Given the description of an element on the screen output the (x, y) to click on. 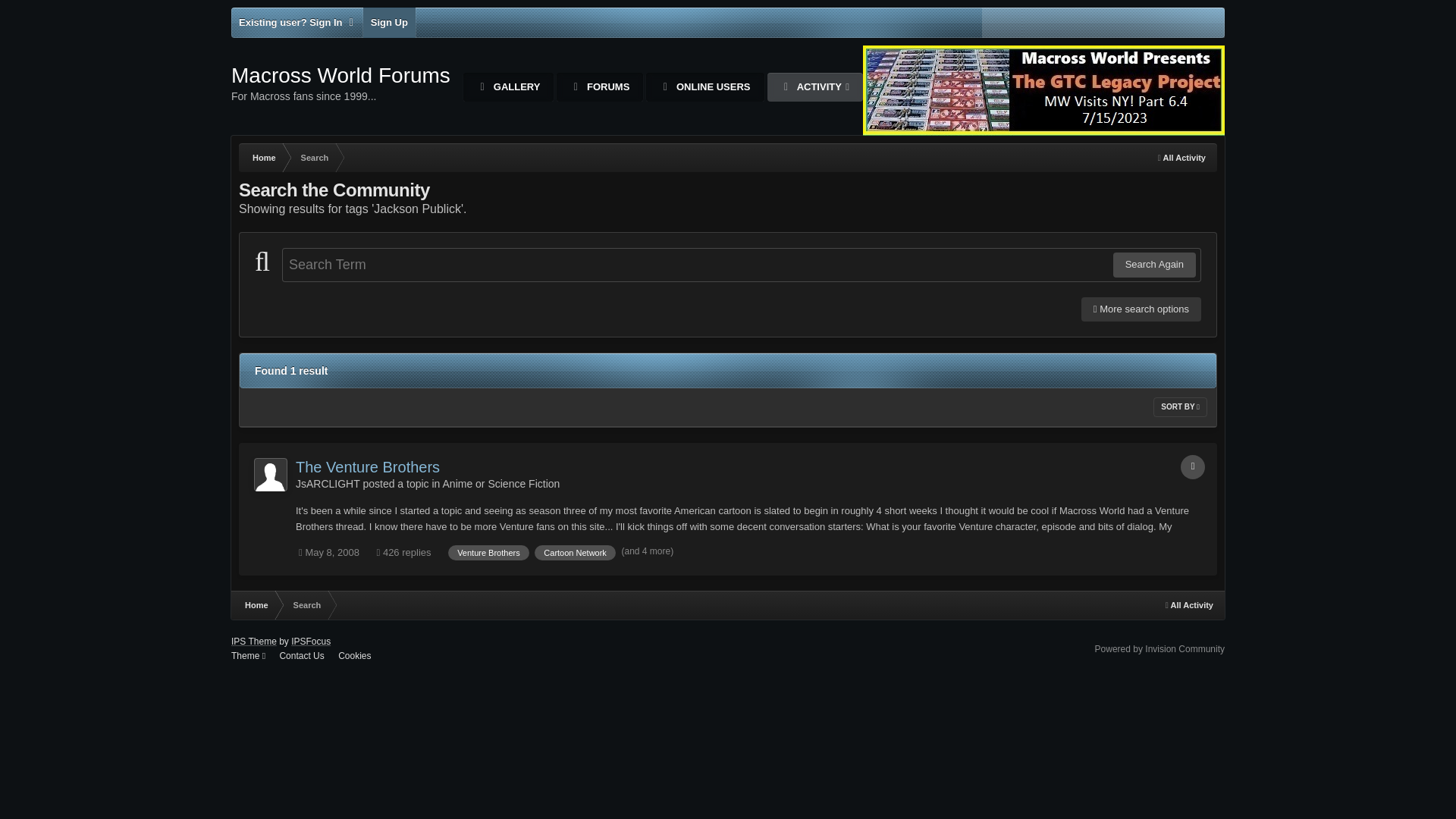
ONLINE USERS (704, 86)
Invision Community (1159, 648)
Topic (1192, 467)
Find other content tagged with 'Venture Brothers' (340, 82)
Existing user? Sign In   (488, 552)
Search Again (296, 22)
GALLERY (1154, 264)
ACTIVITY (508, 86)
FORUMS (815, 86)
Sign Up (599, 86)
All Activity (388, 22)
Go to JsARCLIGHT's profile (1182, 157)
Home (327, 483)
Home (255, 604)
